Given the description of an element on the screen output the (x, y) to click on. 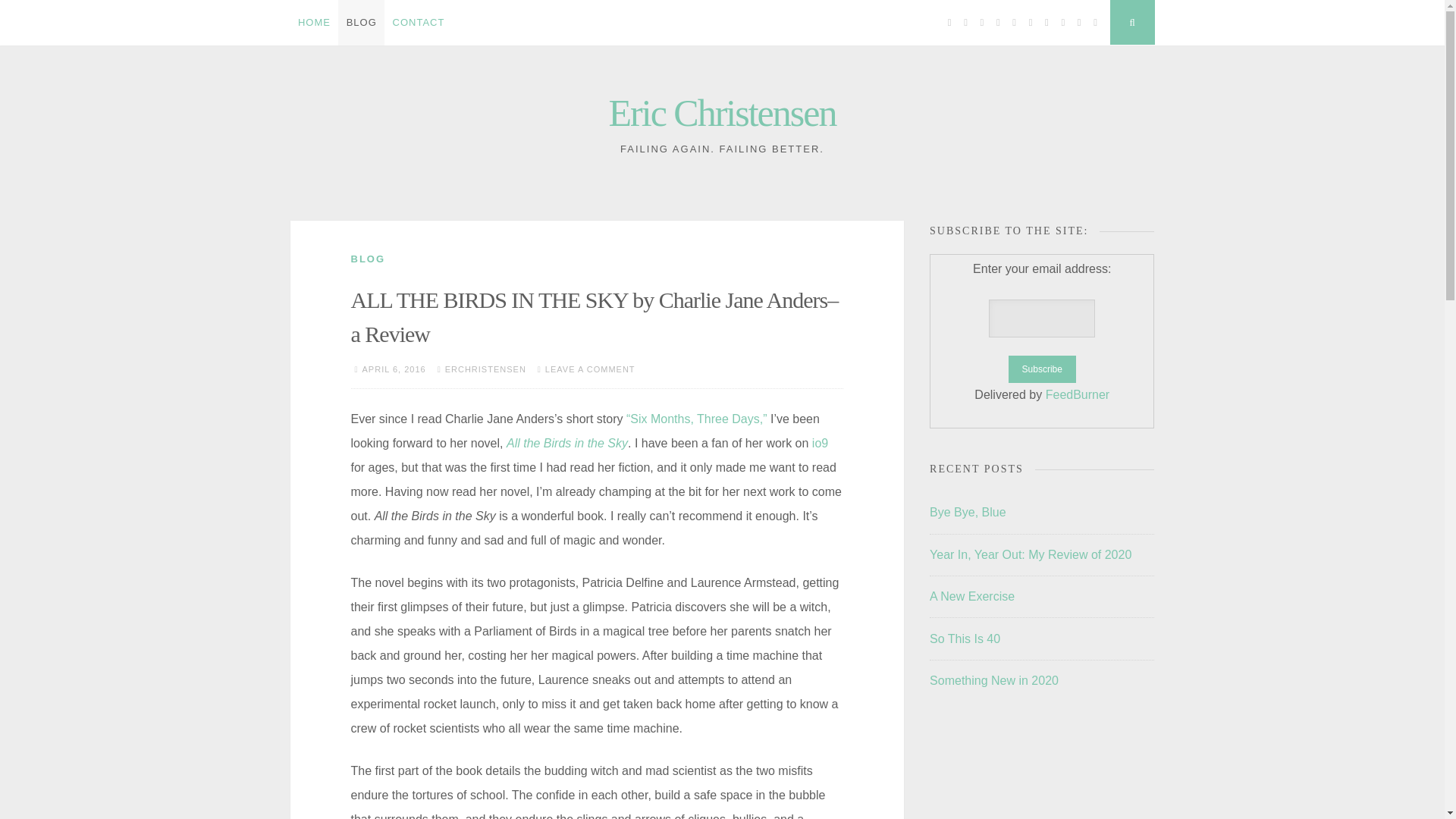
Eric Christensen (721, 112)
A New Exercise (972, 595)
CONTACT (418, 22)
LEAVE A COMMENT (589, 368)
Subscribe (1042, 369)
FeedBurner (1077, 394)
BLOG (367, 258)
Year In, Year Out: My Review of 2020 (1030, 554)
ERCHRISTENSEN (485, 368)
BLOG (360, 22)
All the Birds in the Sky (566, 442)
APRIL 6, 2016 (394, 368)
Subscribe (1042, 369)
Bye Bye, Blue (968, 512)
HOME (313, 22)
